Given the description of an element on the screen output the (x, y) to click on. 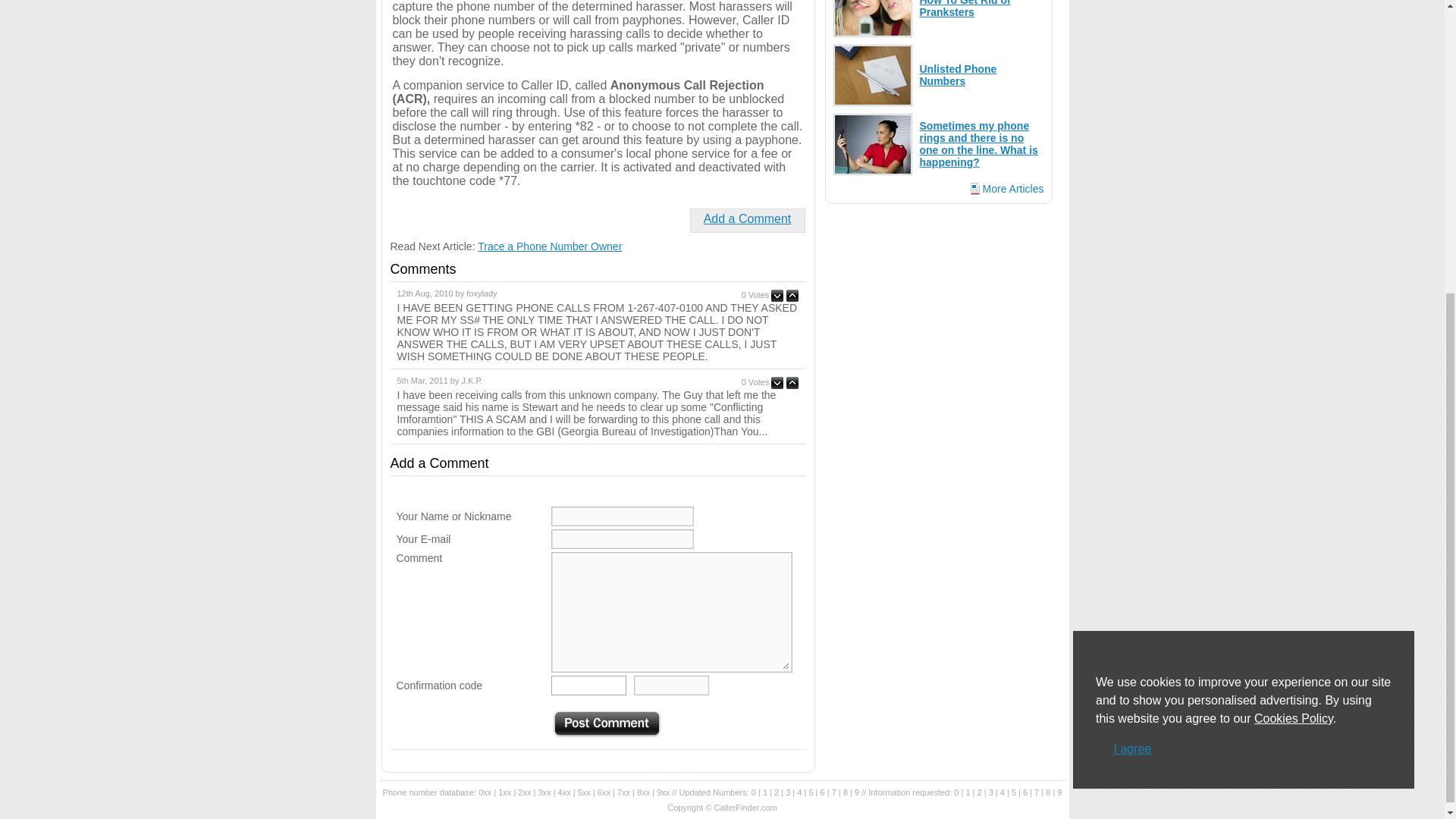
6xx (603, 791)
2xx (524, 791)
1xx (504, 791)
More Articles (1007, 187)
How To Get Rid of Pranksters (964, 9)
Advertisement (938, 306)
7xx (623, 791)
9xx (662, 791)
5xx (584, 791)
Add a Comment (747, 218)
0xx (485, 791)
Unlisted Phone Numbers (956, 74)
Trace a Phone Number Owner (549, 246)
4xx (563, 791)
